Given the description of an element on the screen output the (x, y) to click on. 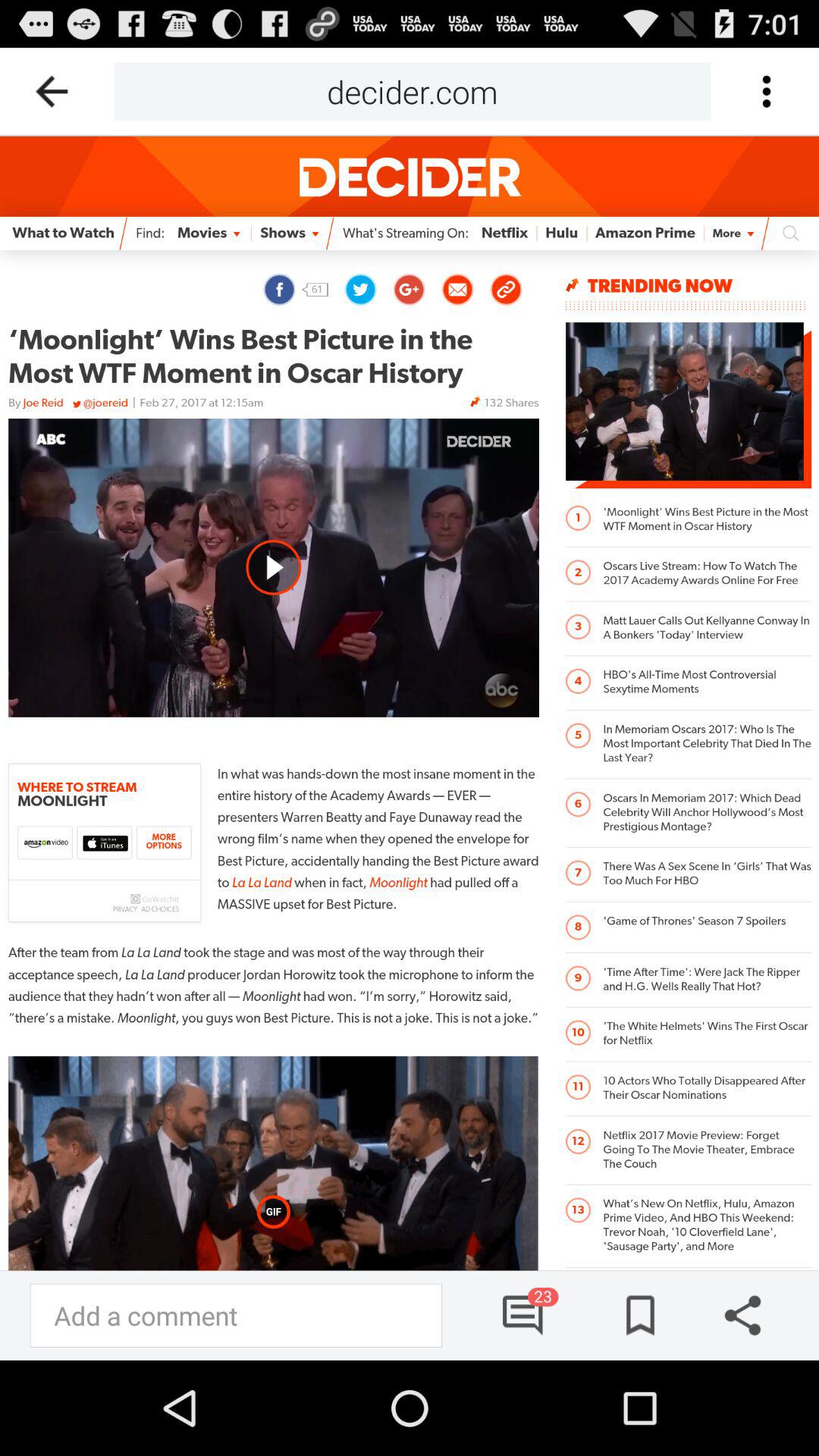
bookmarks (635, 1315)
